Given the description of an element on the screen output the (x, y) to click on. 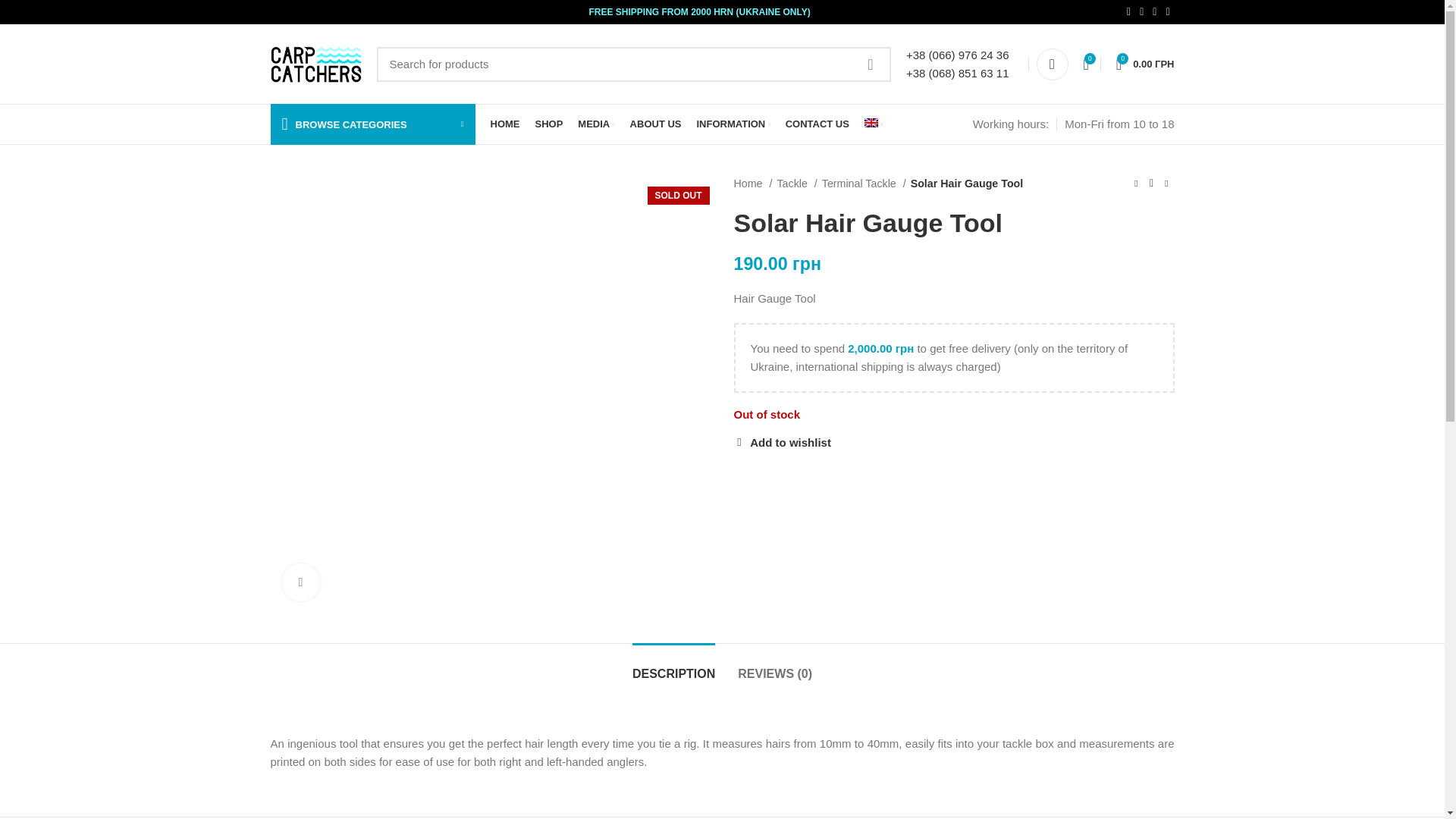
SEARCH (870, 63)
My account (1052, 63)
Search for products (632, 63)
Shopping cart (1145, 63)
